Given the description of an element on the screen output the (x, y) to click on. 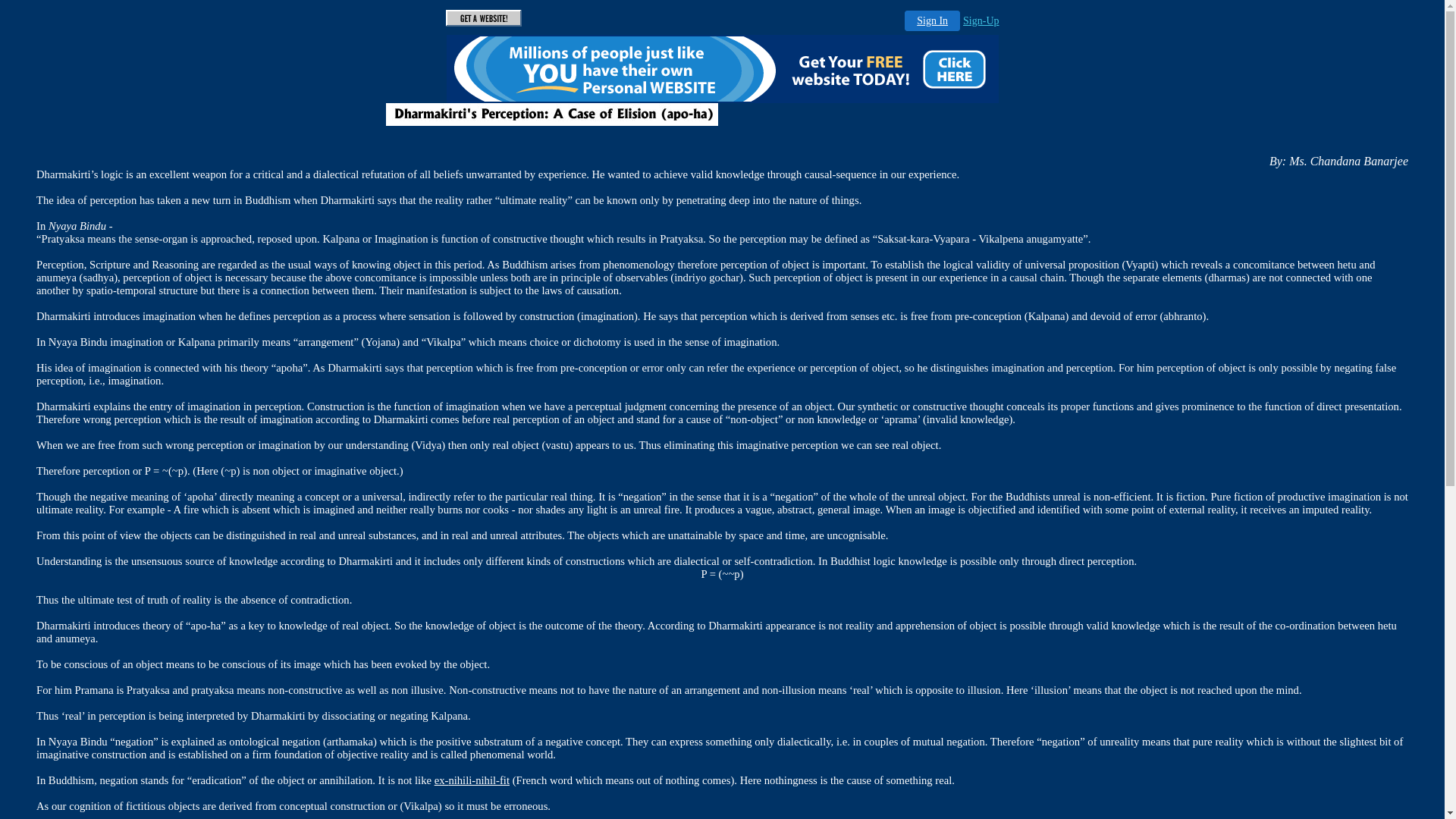
Sign In Element type: text (932, 20)
Sign-Up Element type: text (980, 20)
